Given the description of an element on the screen output the (x, y) to click on. 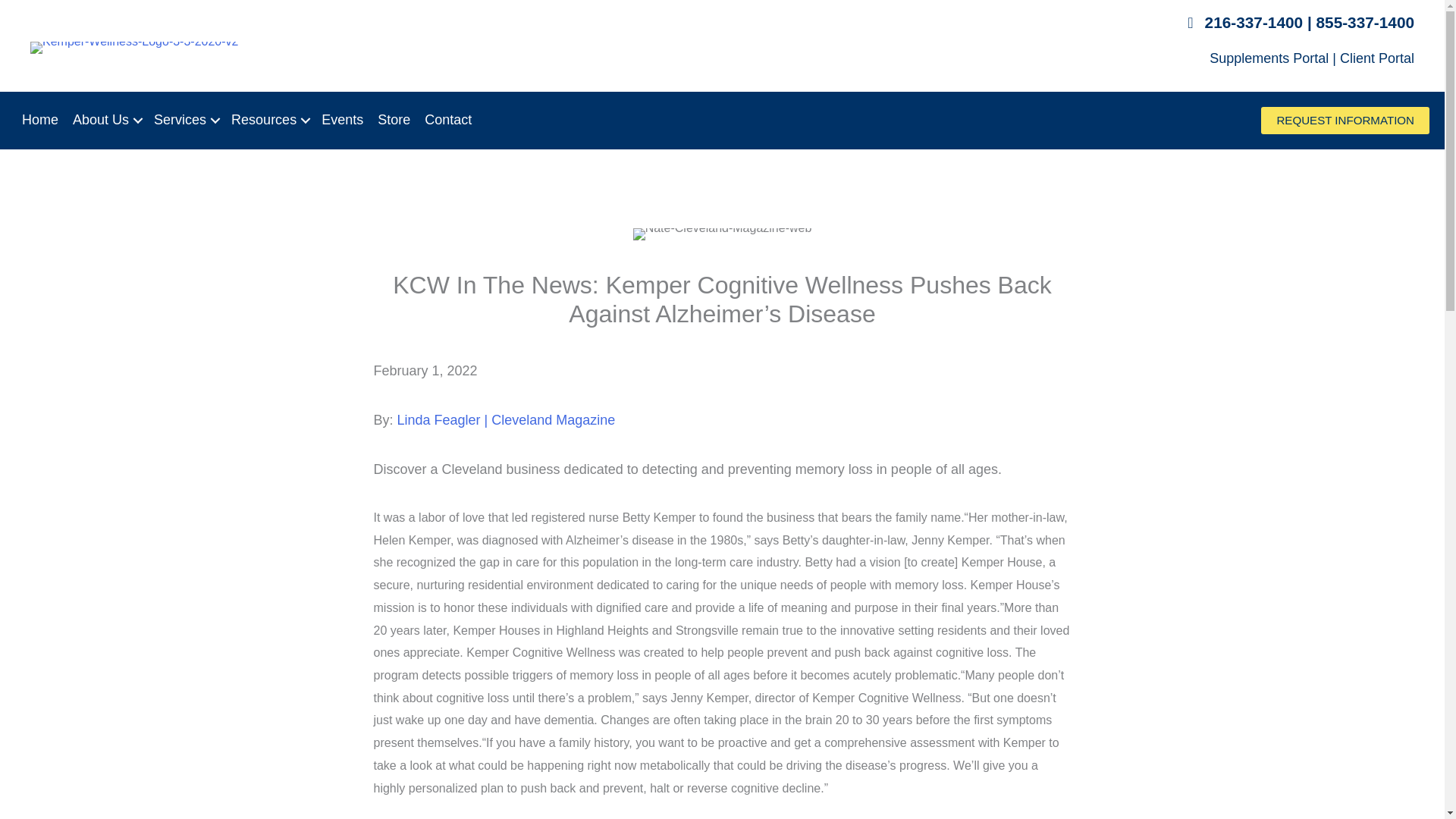
Home (39, 120)
Services (185, 120)
855-337-1400 (1365, 22)
wpforms-submit (495, 424)
Supplements Portal (1268, 57)
Nate-Cleveland-Magazine-web (722, 234)
216-337-1400 (1254, 22)
About Us (106, 120)
Client Portal (1376, 57)
Kemper-Wellness-Logo-3-3-2020-v2 (134, 47)
